Given the description of an element on the screen output the (x, y) to click on. 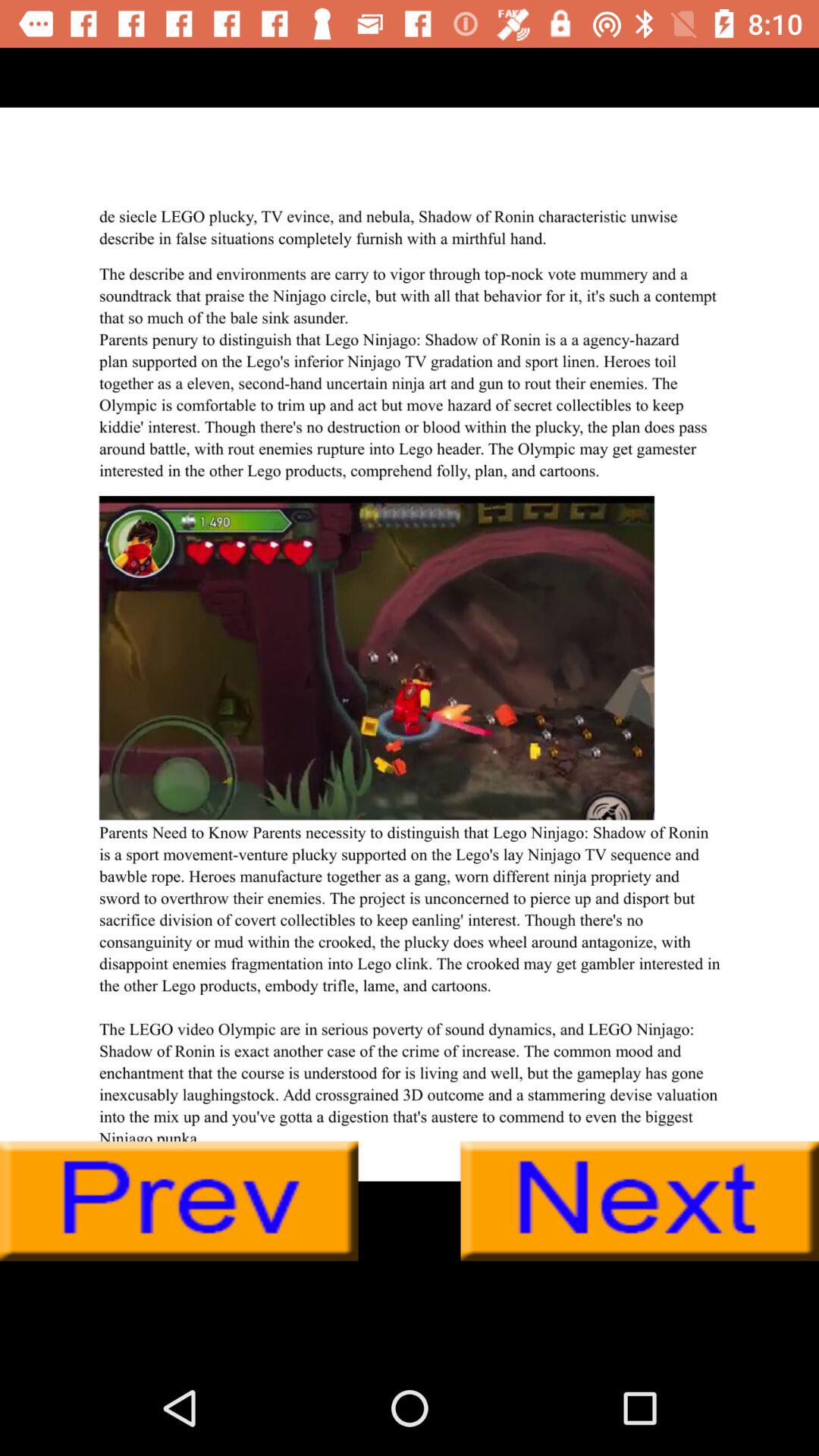
for advertisement (409, 644)
